Given the description of an element on the screen output the (x, y) to click on. 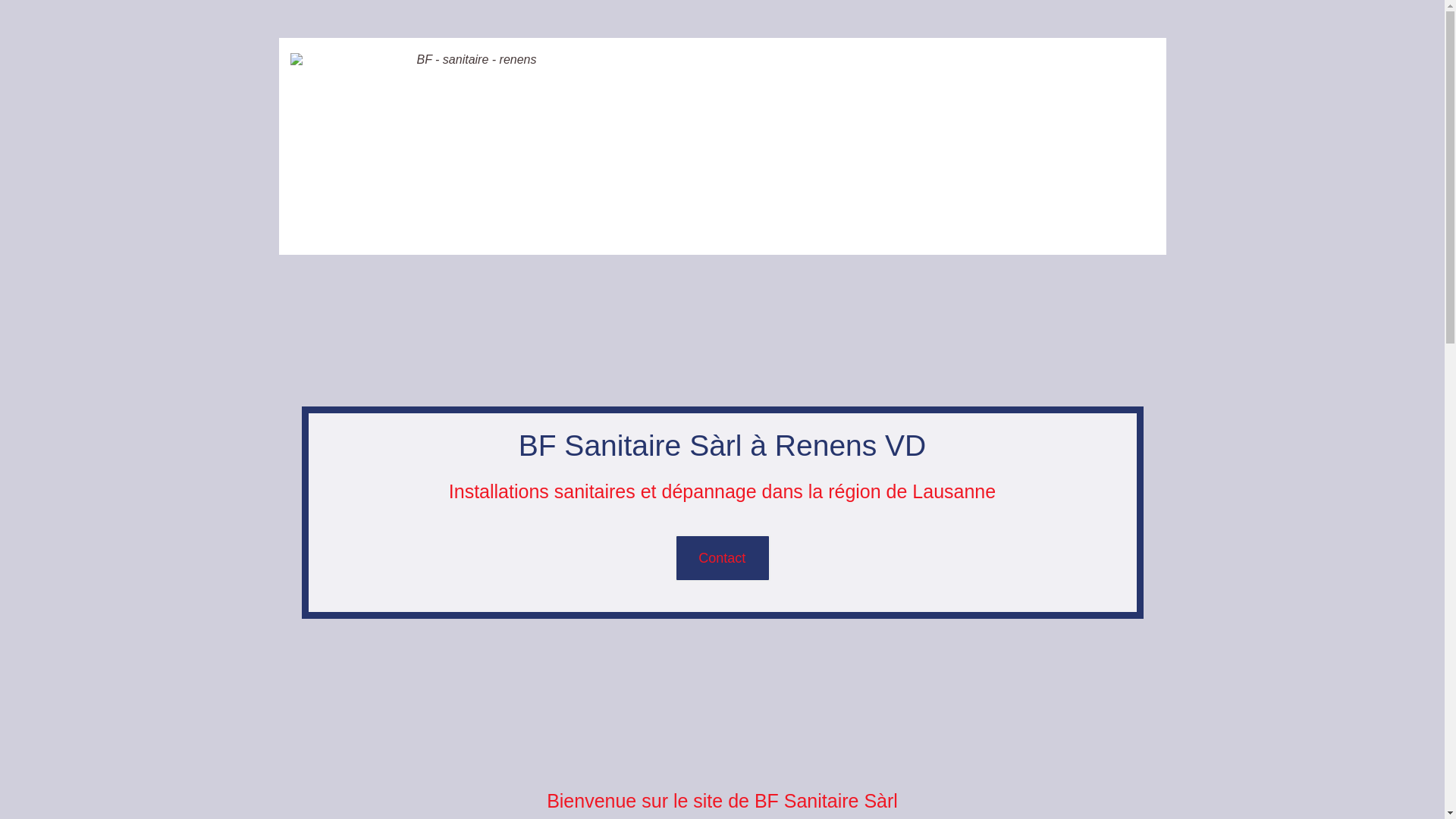
Contact Element type: text (722, 557)
